Given the description of an element on the screen output the (x, y) to click on. 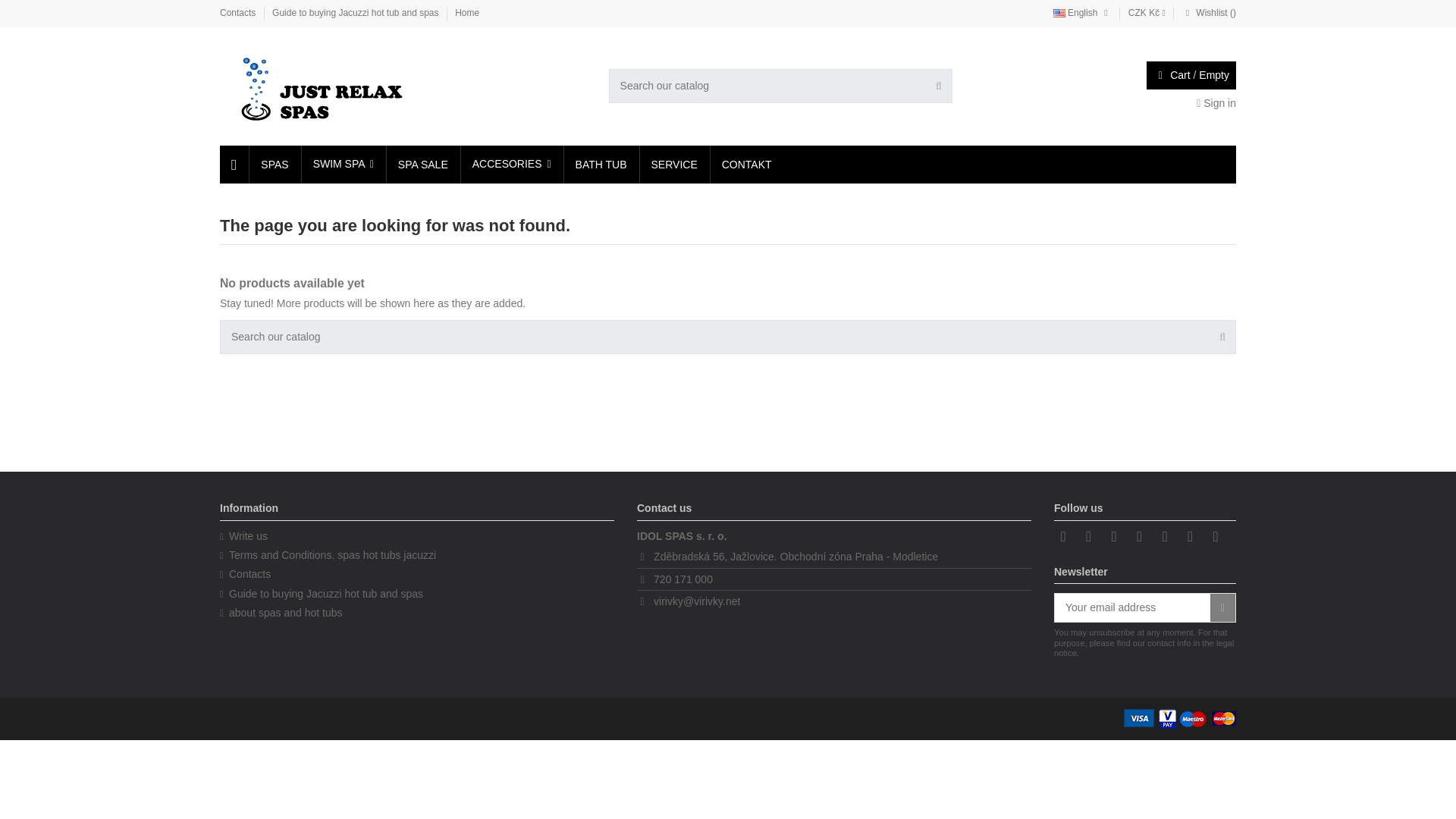
Log in to your customer account (1216, 102)
English (1082, 12)
Contacts (239, 12)
Guide to buying Jacuzzi hot tub and spas (356, 12)
ACCESORIES (511, 164)
Sign in (1216, 102)
SWIM SPA (342, 164)
Home (466, 12)
SPAS (273, 164)
SPA SALE (422, 164)
